Given the description of an element on the screen output the (x, y) to click on. 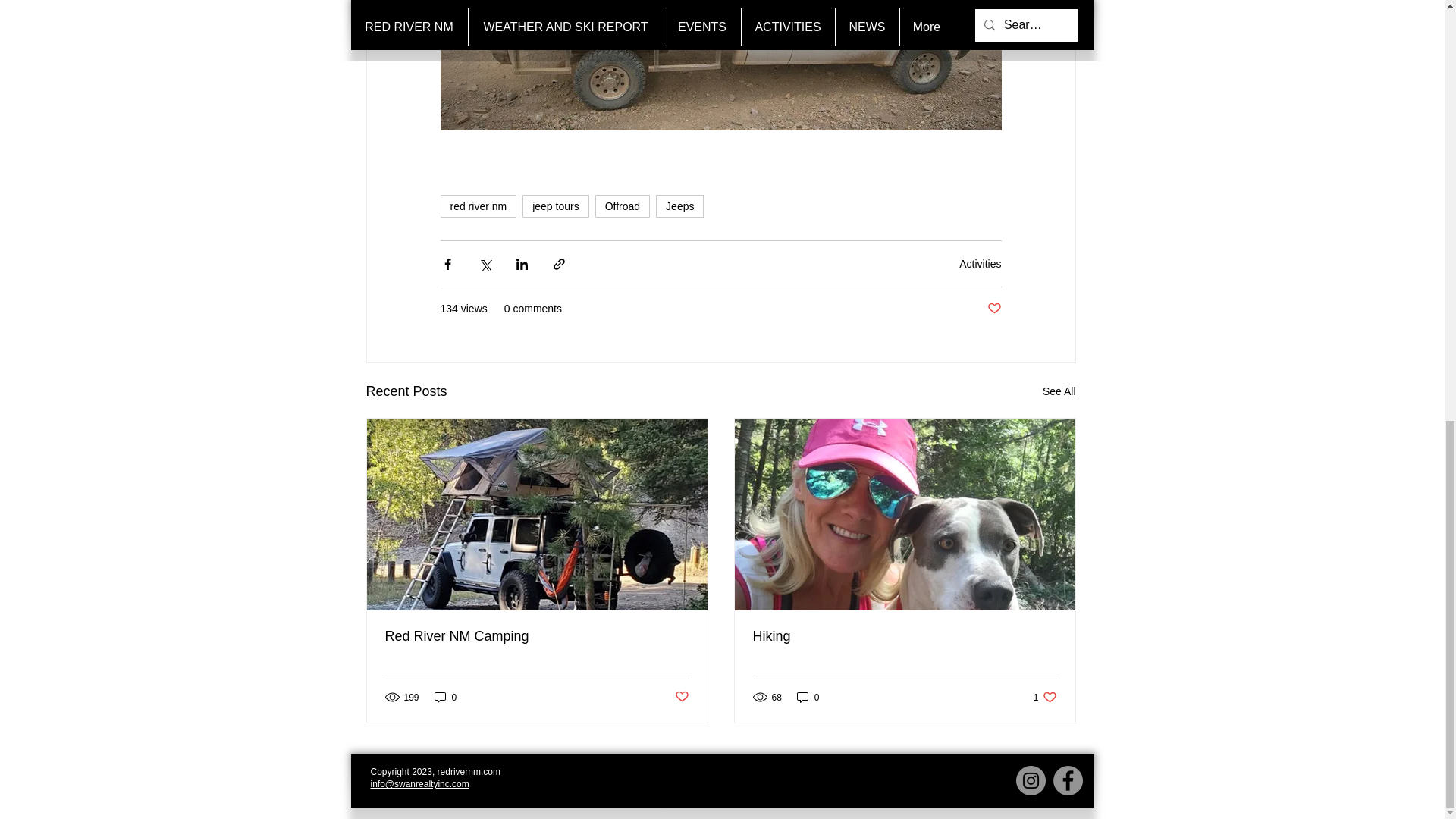
Jeeps (679, 205)
jeep tours (1045, 697)
Post not marked as liked (555, 205)
Activities (994, 308)
Red River NM Camping (980, 263)
0 (536, 636)
0 (807, 697)
Offroad (445, 697)
Post not marked as liked (622, 205)
